Given the description of an element on the screen output the (x, y) to click on. 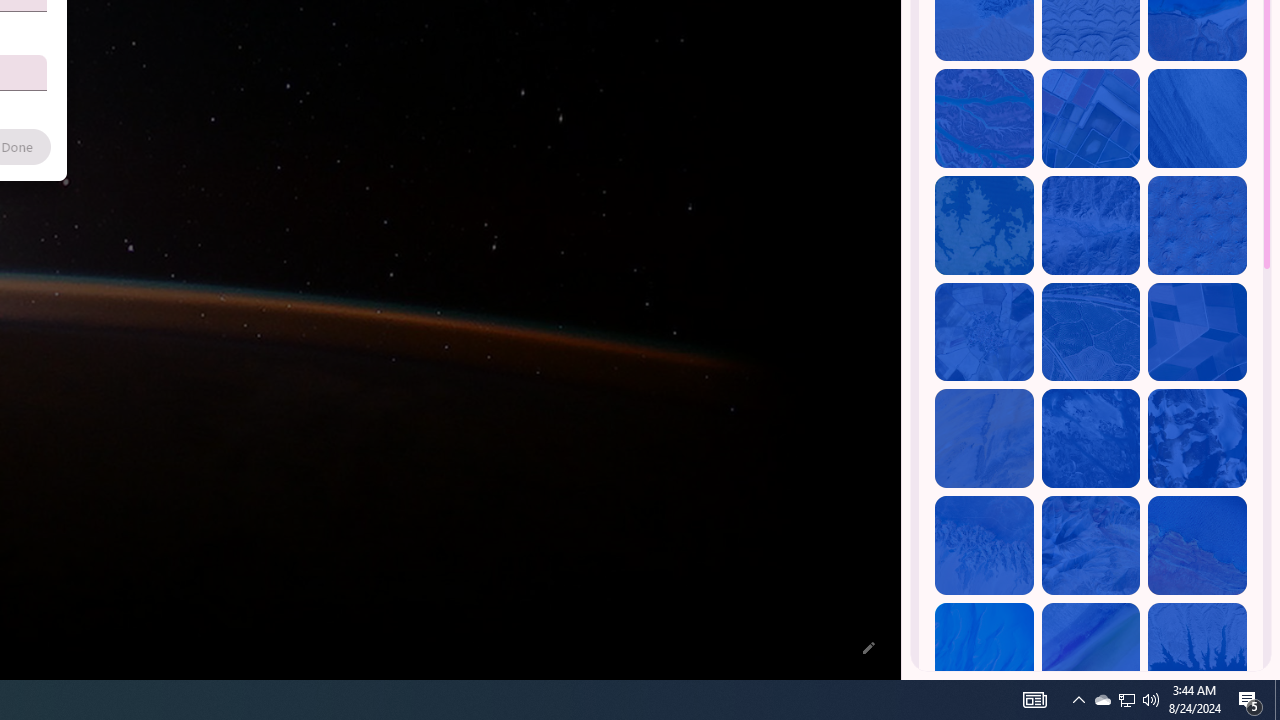
Granville, France (1090, 438)
Hainan, China (1197, 651)
Side Panel Resize Handle (905, 39)
Ngari, China (1090, 545)
Atar, Mauritania (984, 438)
Qesm Al Wahat Ad Dakhlah, Egypt (984, 545)
Libya (1197, 545)
Pozoantiguo, Spain (984, 332)
Isla Cristina, Spain (1090, 332)
Davis County, United States (1090, 651)
Aigues-Mortes, France (1090, 119)
Ouargla, Algeria (1197, 225)
South Eleuthera, The Bahamas (984, 651)
